Given the description of an element on the screen output the (x, y) to click on. 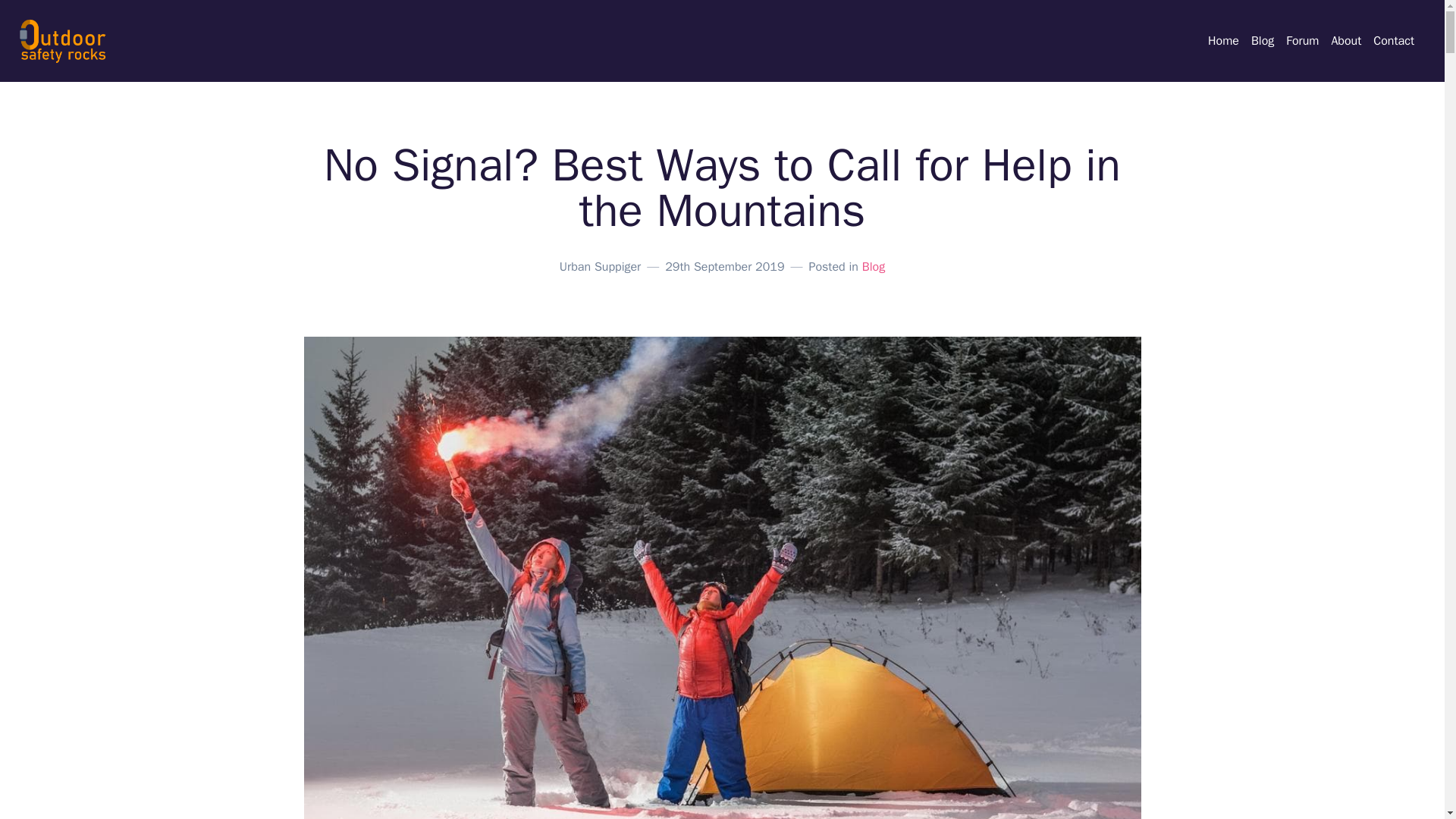
Contact (1393, 40)
Forum (1302, 40)
About (1345, 40)
Home (1223, 40)
Blog (873, 266)
Blog (1262, 40)
